Given the description of an element on the screen output the (x, y) to click on. 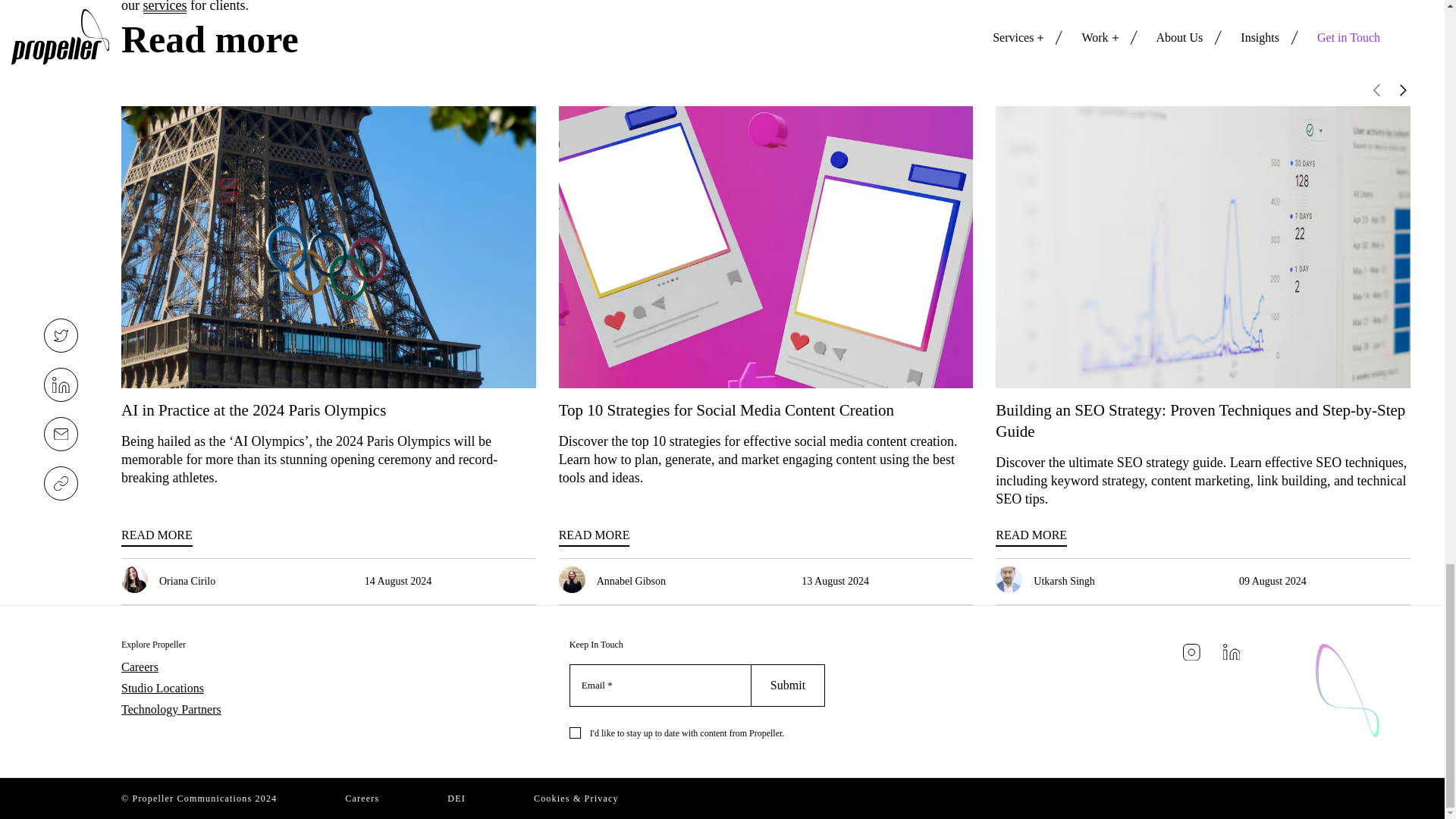
services (164, 6)
READ MORE (594, 537)
READ MORE (1031, 537)
READ MORE (156, 537)
